Given the description of an element on the screen output the (x, y) to click on. 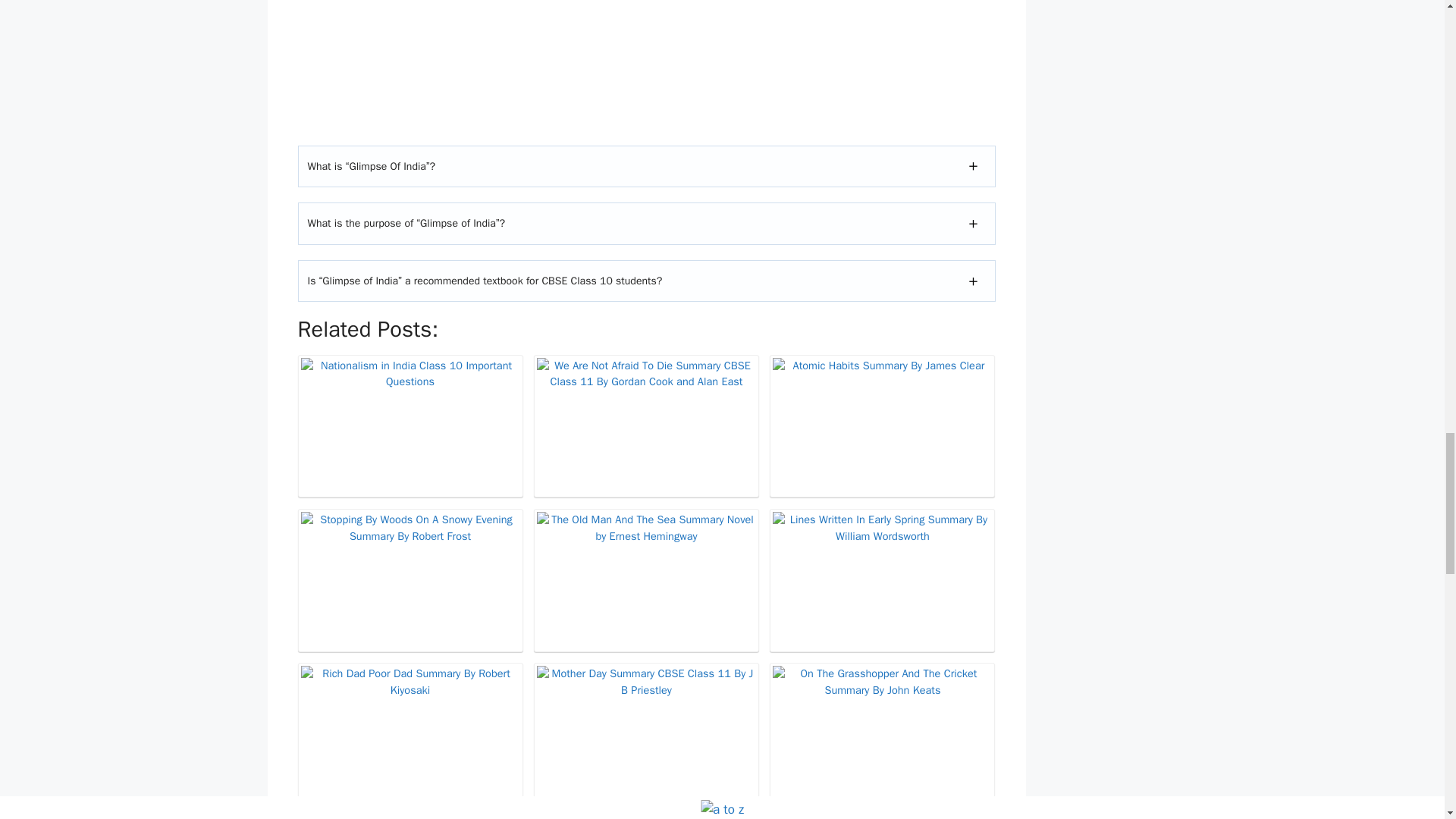
Nationalism in India Class 10 Important Questions (409, 426)
Stopping By Woods On A Snowy Evening Summary By Robert Frost (409, 580)
Rich Dad Poor Dad Summary By Robert Kiyosaki (409, 734)
